Given the description of an element on the screen output the (x, y) to click on. 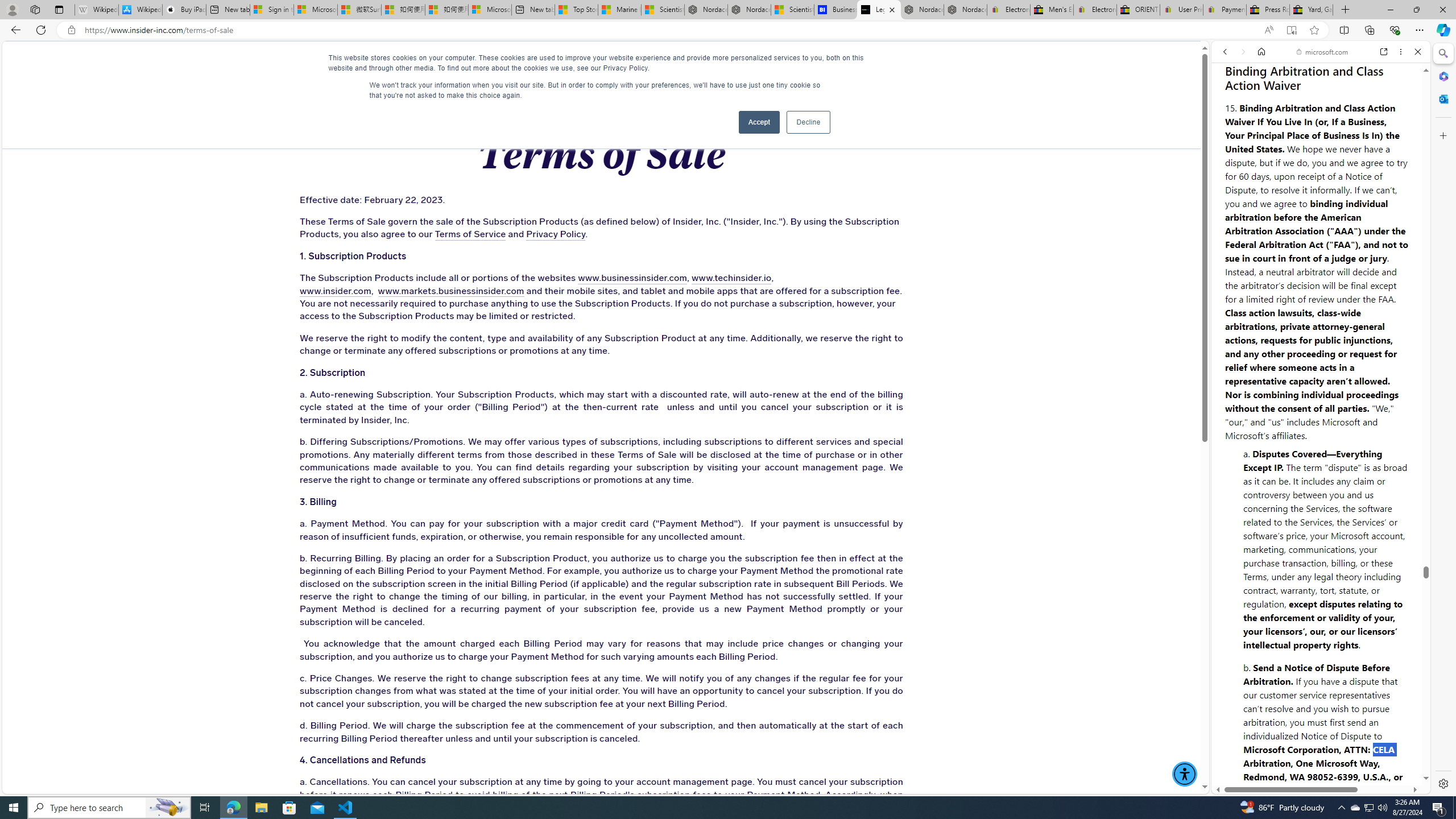
Decline (807, 121)
Open in New Tab (1321, 768)
Insider Inc. (601, 62)
Top Stories - MSN (576, 9)
